Given the description of an element on the screen output the (x, y) to click on. 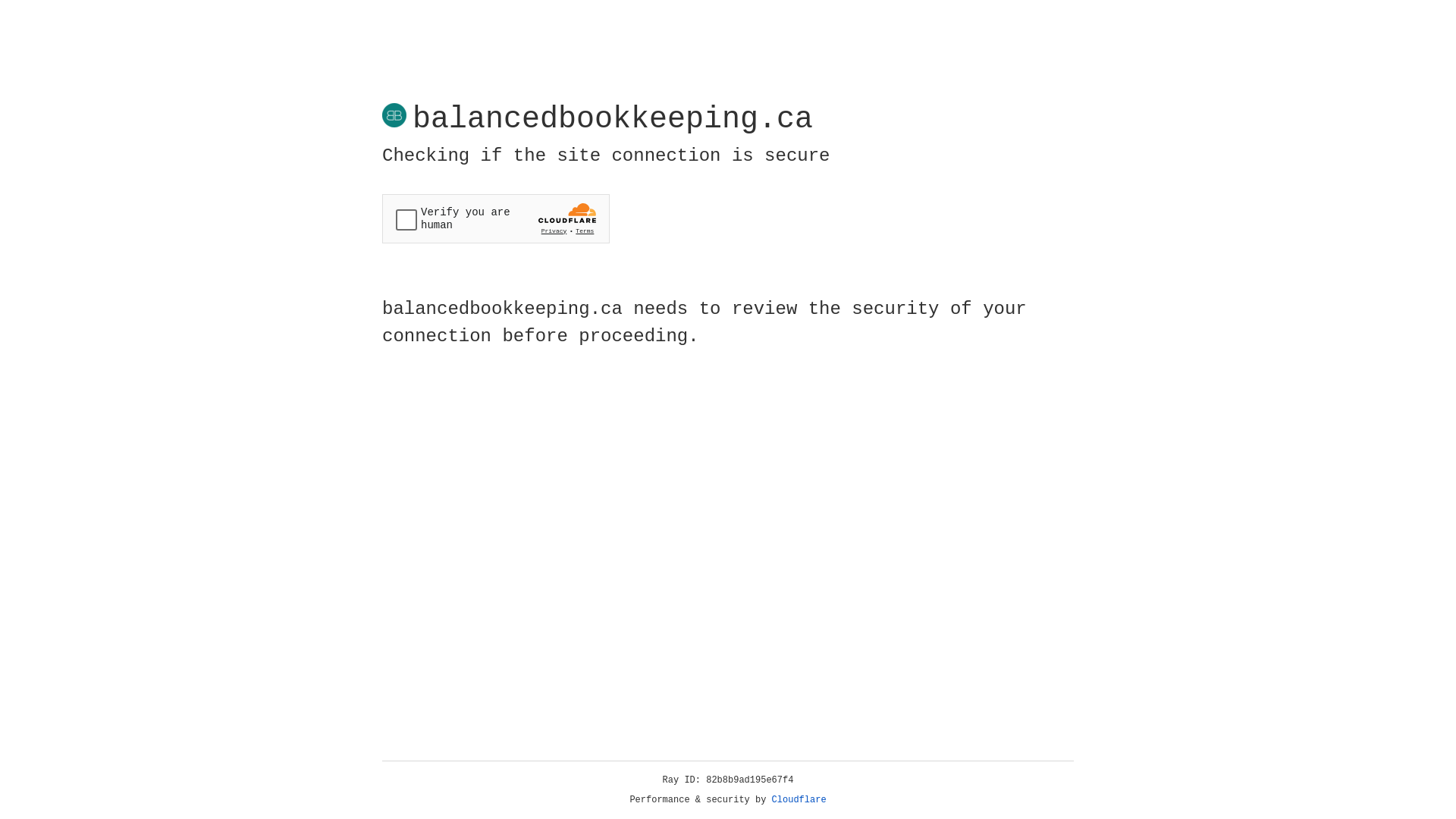
Widget containing a Cloudflare security challenge Element type: hover (495, 218)
Cloudflare Element type: text (798, 799)
